Given the description of an element on the screen output the (x, y) to click on. 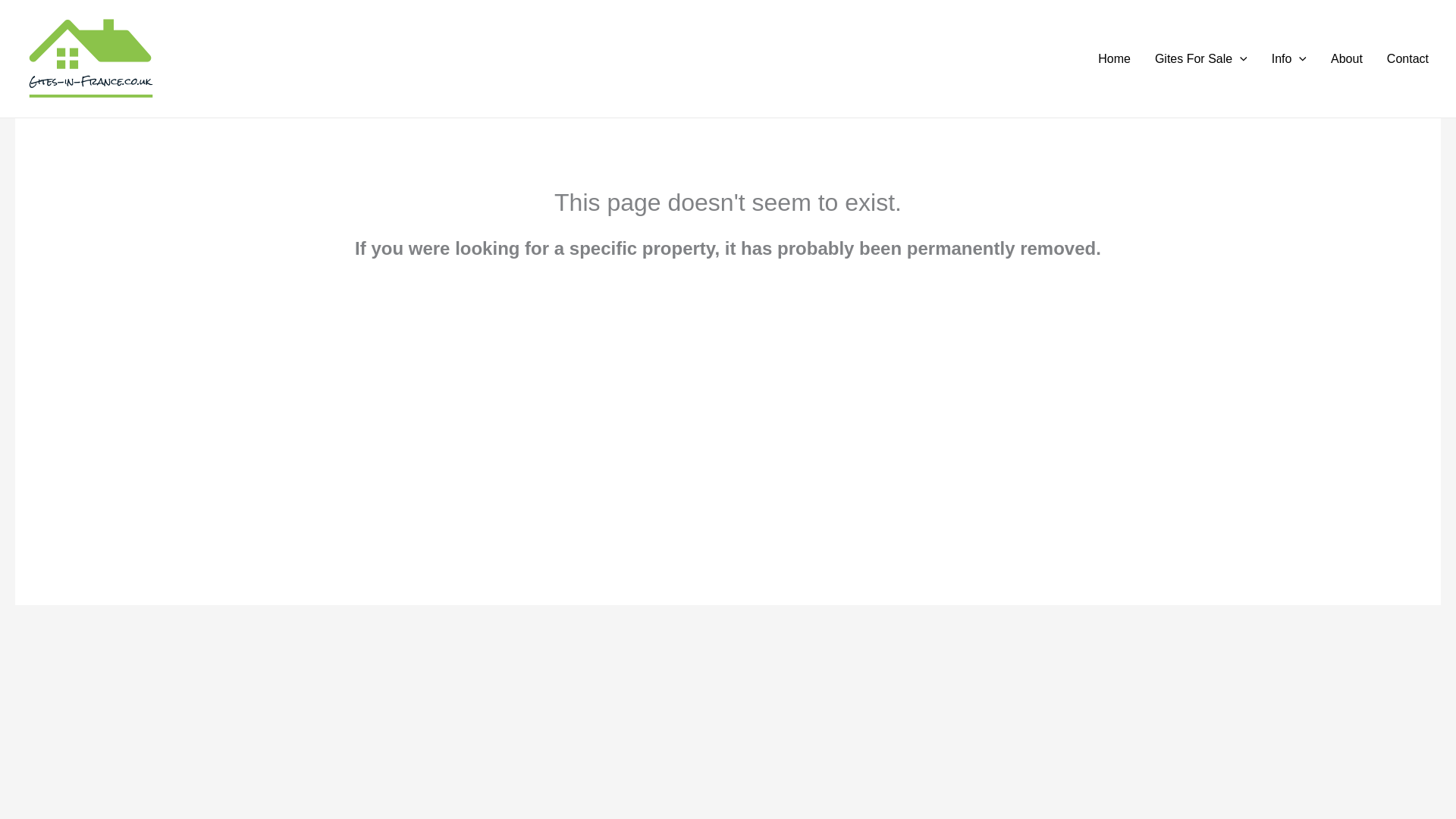
About (1346, 58)
Gites For Sale (1200, 58)
Info (1289, 58)
Contact (1407, 58)
Home (1114, 58)
